Given the description of an element on the screen output the (x, y) to click on. 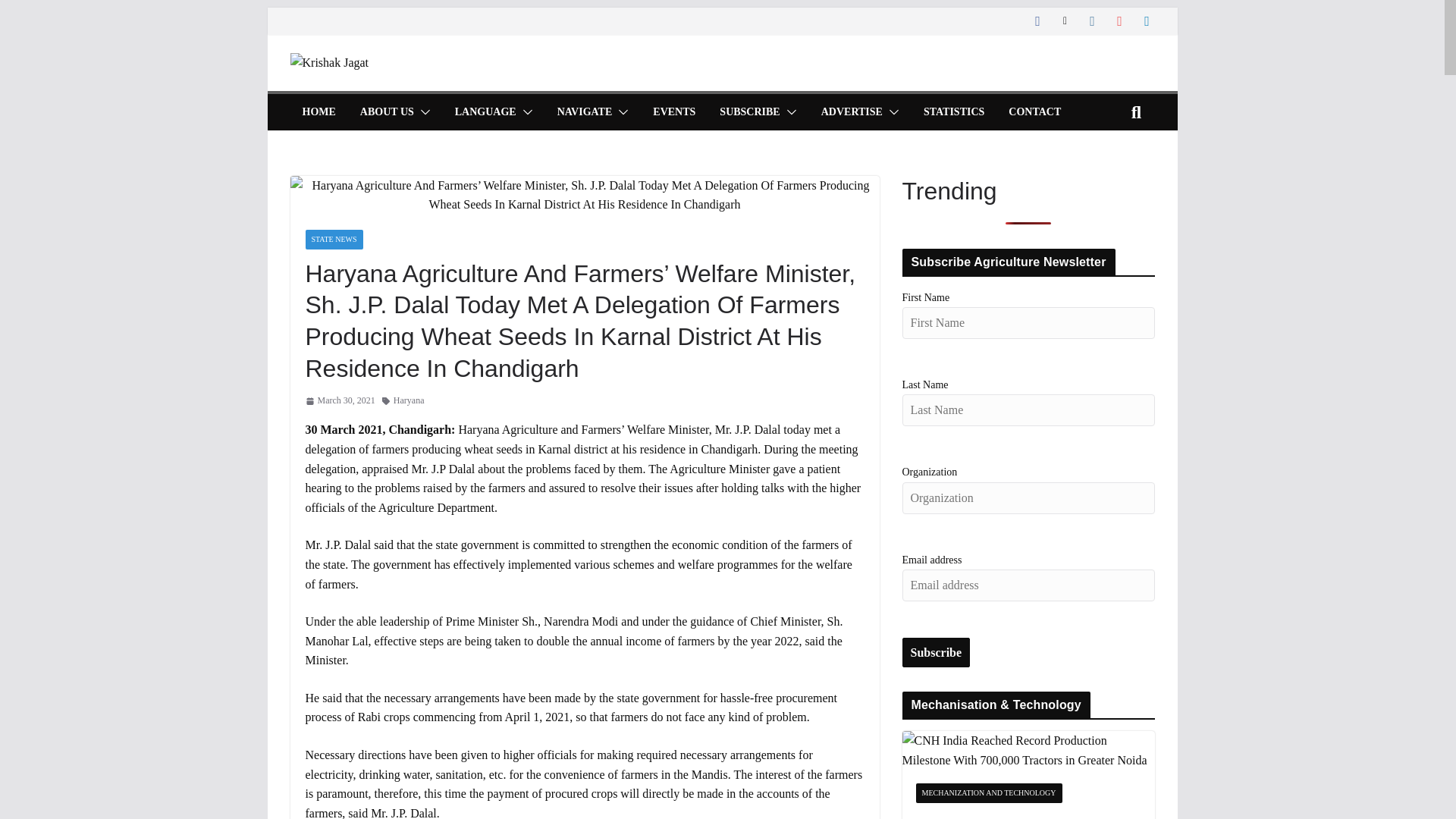
ABOUT US (386, 111)
LANGUAGE (485, 111)
HOME (317, 111)
11:47 pm (339, 400)
Subscribe (936, 653)
SUBSCRIBE (748, 111)
EVENTS (673, 111)
NAVIGATE (584, 111)
ADVERTISE (851, 111)
